Given the description of an element on the screen output the (x, y) to click on. 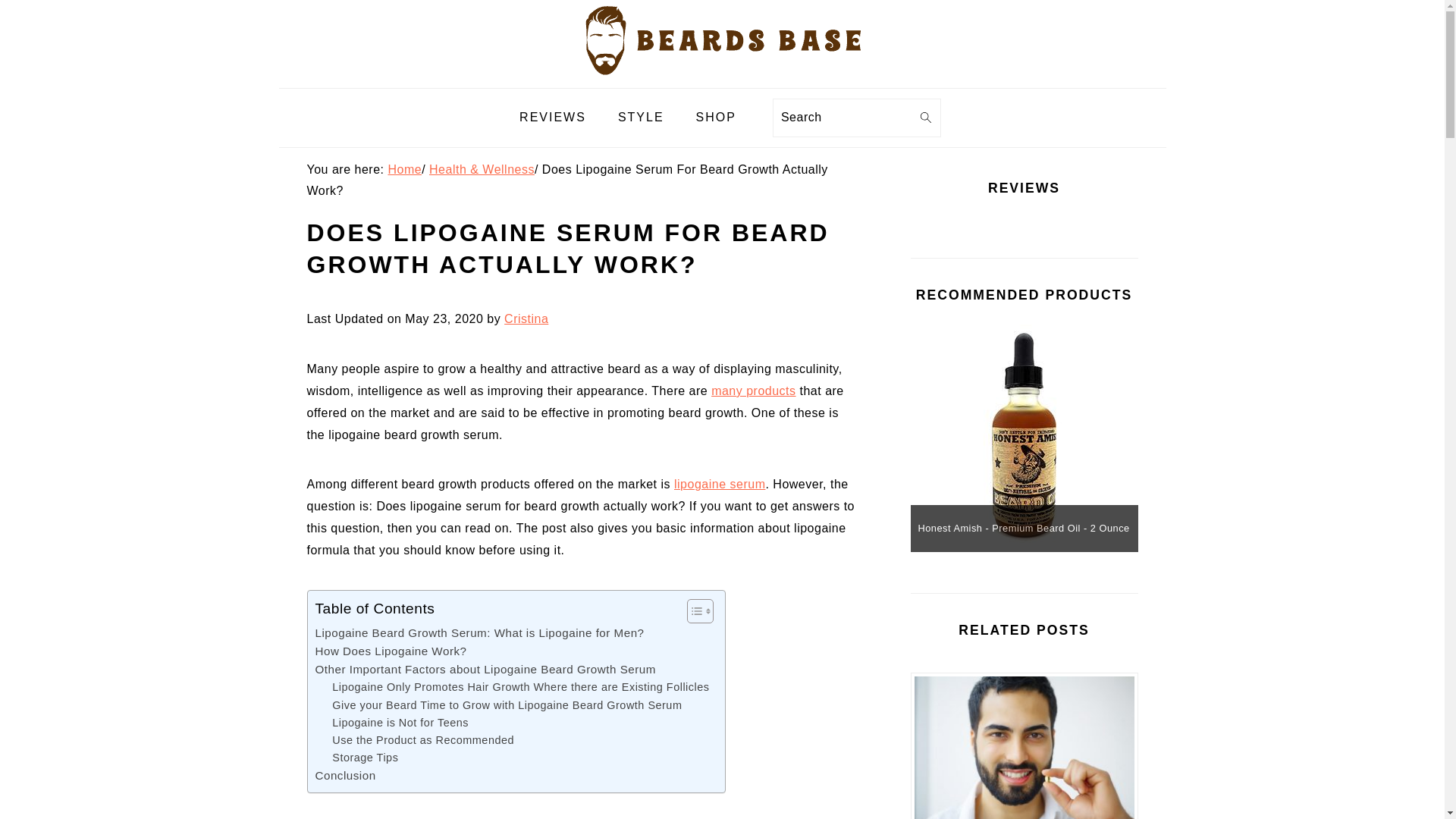
Beards Base (722, 40)
Home (404, 169)
lipogaine serum (719, 483)
REVIEWS (552, 117)
STYLE (640, 117)
How Does Lipogaine Work? (391, 651)
Other Important Factors about Lipogaine Beard Growth Serum (485, 669)
Cristina (525, 318)
many products (752, 390)
